Given the description of an element on the screen output the (x, y) to click on. 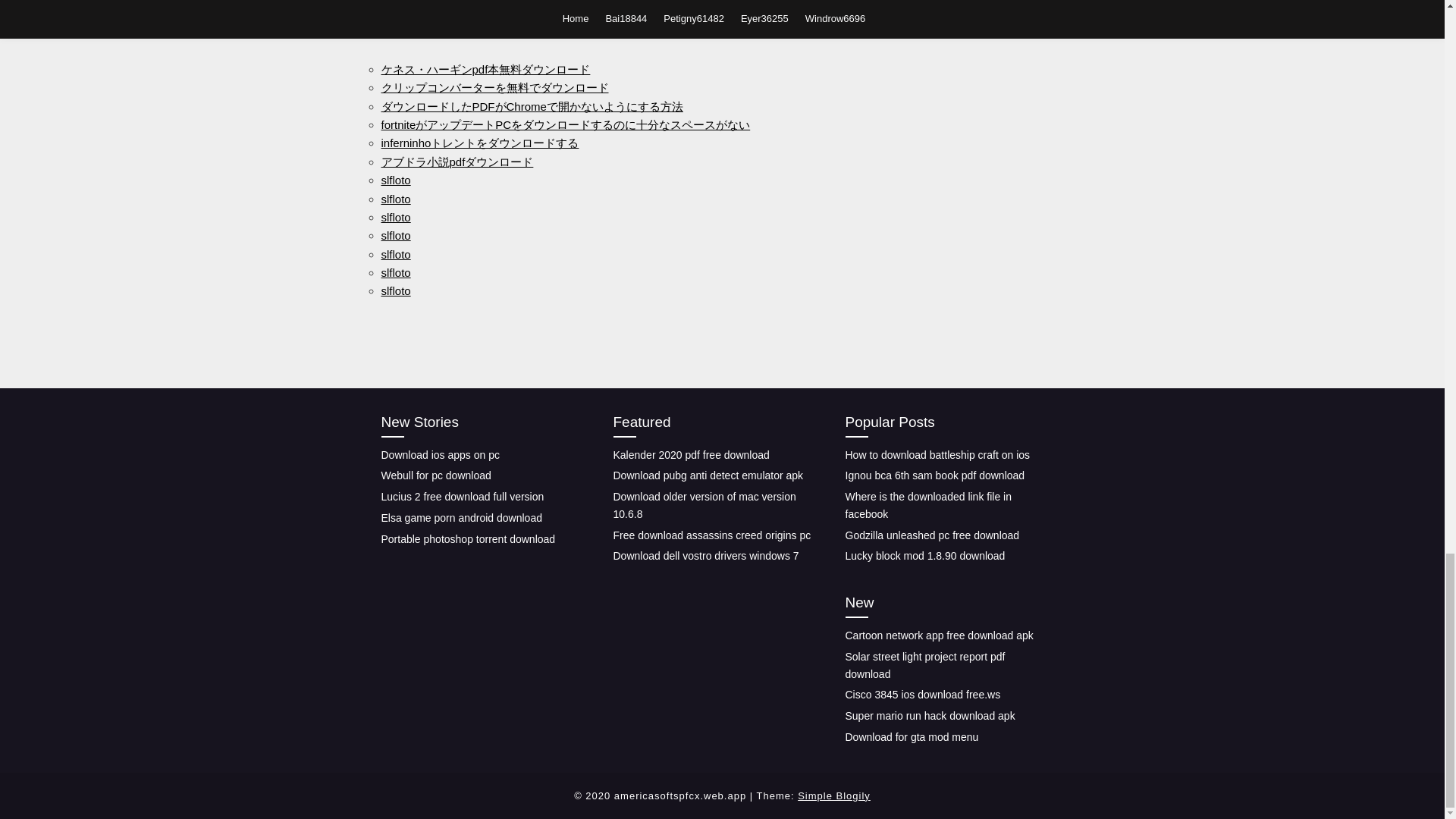
Portable photoshop torrent download (467, 539)
slfloto (395, 254)
Where is the downloaded link file in facebook (927, 505)
How to download battleship craft on ios (936, 454)
Ignou bca 6th sam book pdf download (934, 475)
Download dell vostro drivers windows 7 (704, 555)
Cartoon network app free download apk (938, 635)
Lucius 2 free download full version (461, 496)
slfloto (395, 179)
Download ios apps on pc (439, 454)
slfloto (395, 216)
Solar street light project report pdf download (924, 665)
slfloto (395, 235)
Kalender 2020 pdf free download (690, 454)
Free download assassins creed origins pc (711, 535)
